Given the description of an element on the screen output the (x, y) to click on. 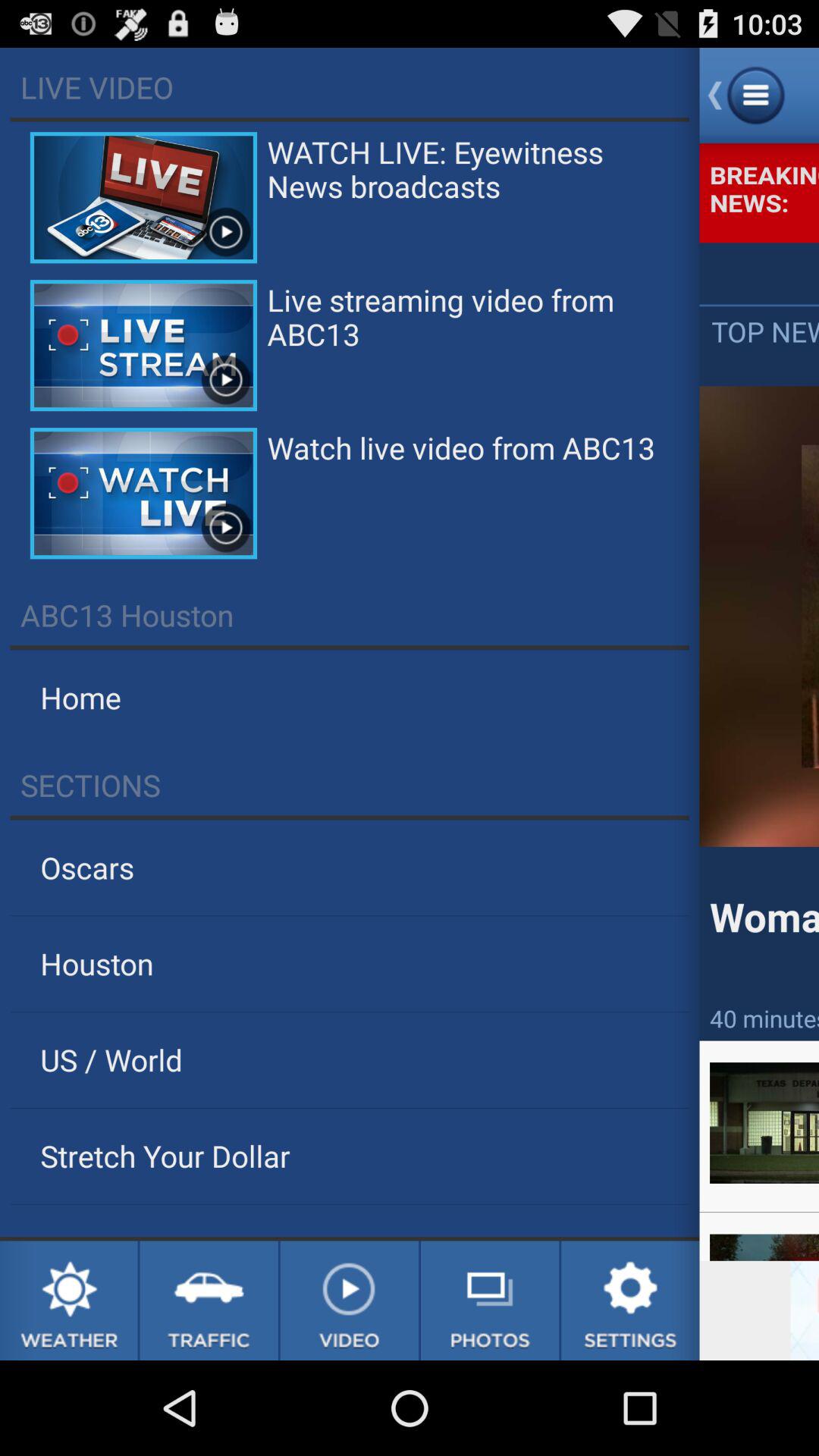
weather tool (68, 1300)
